Given the description of an element on the screen output the (x, y) to click on. 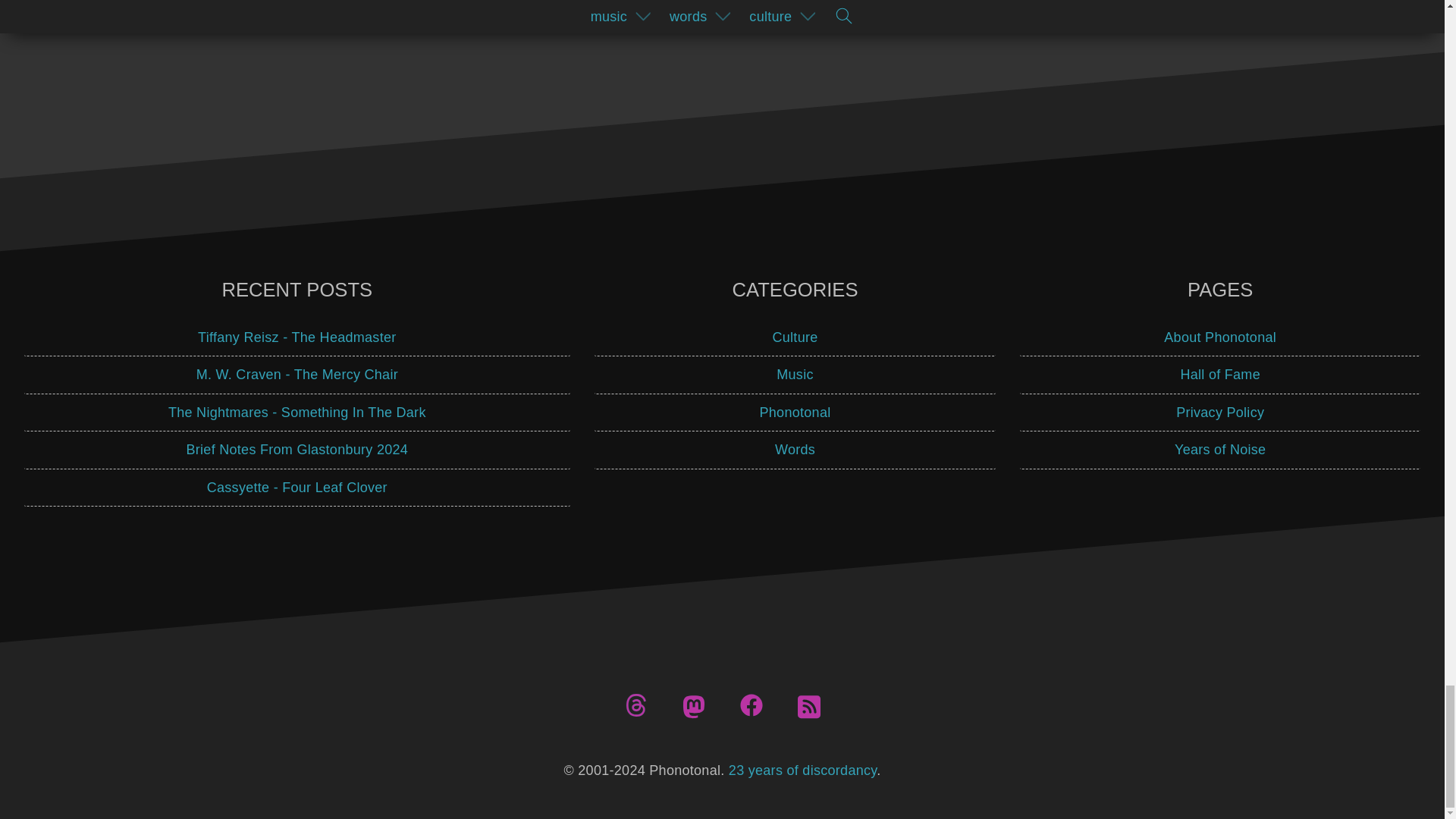
Go (904, 15)
Tiffany Reisz - The Headmaster (297, 337)
Brief Notes From Glastonbury 2024 (297, 449)
RSS (809, 706)
Facebook (750, 704)
Mastodon (693, 706)
Threads (635, 704)
Go (904, 15)
M. W. Craven - The Mercy Chair (297, 374)
The Nightmares - Something In The Dark (297, 412)
